Given the description of an element on the screen output the (x, y) to click on. 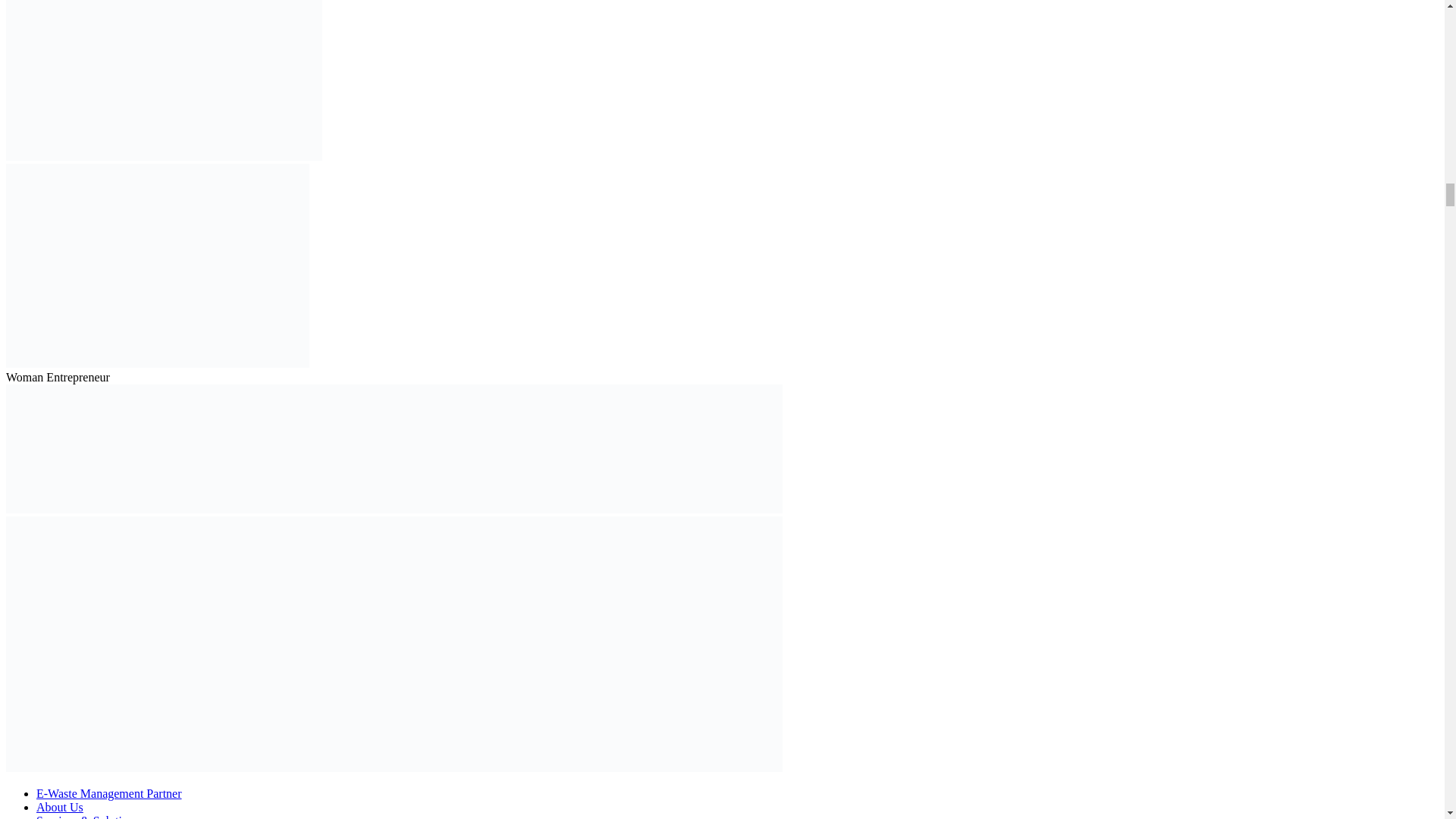
E-Waste Management Partner (109, 793)
About Us (59, 807)
